Given the description of an element on the screen output the (x, y) to click on. 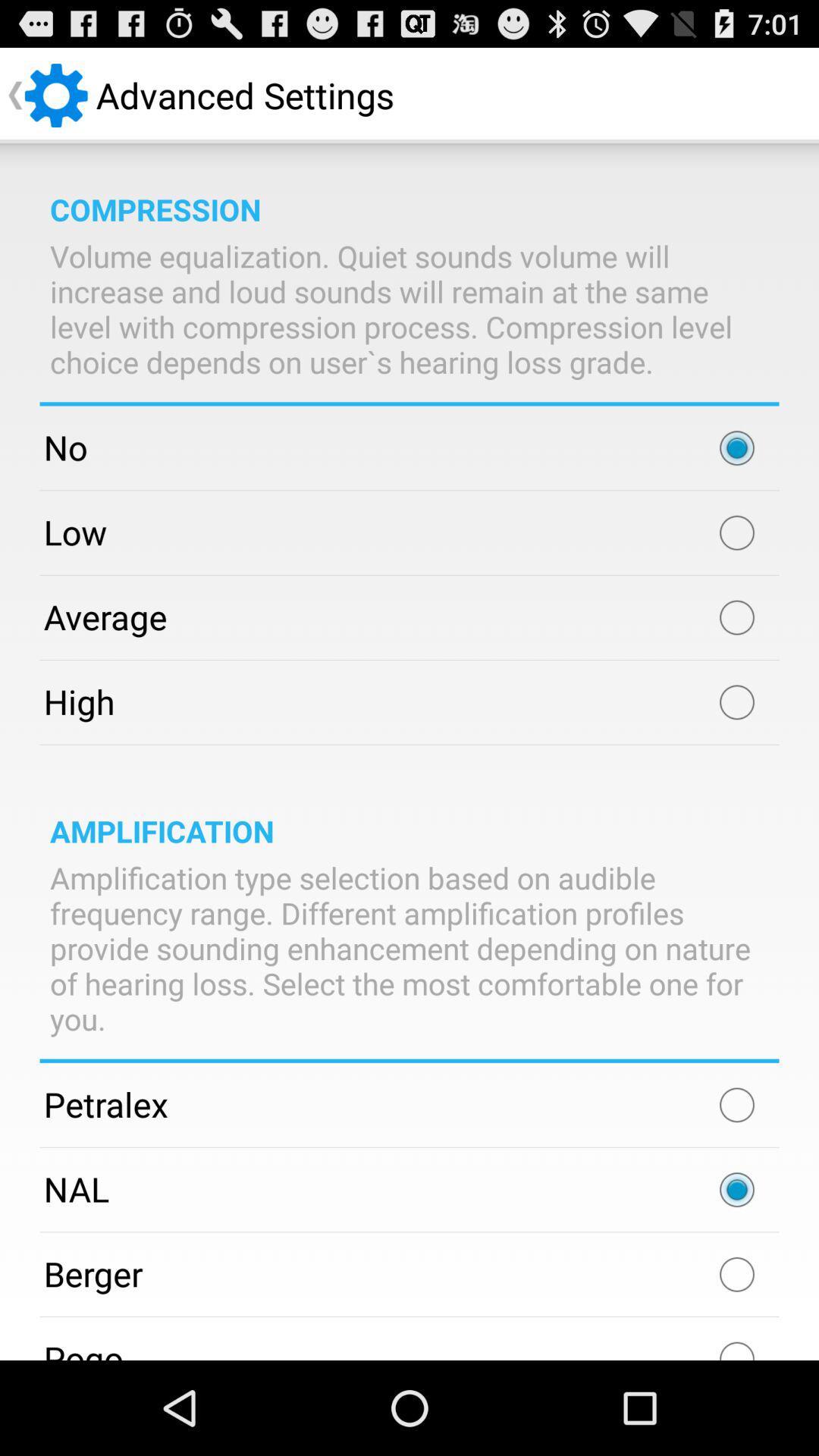
select icon to the right of the pogo (736, 1343)
